Given the description of an element on the screen output the (x, y) to click on. 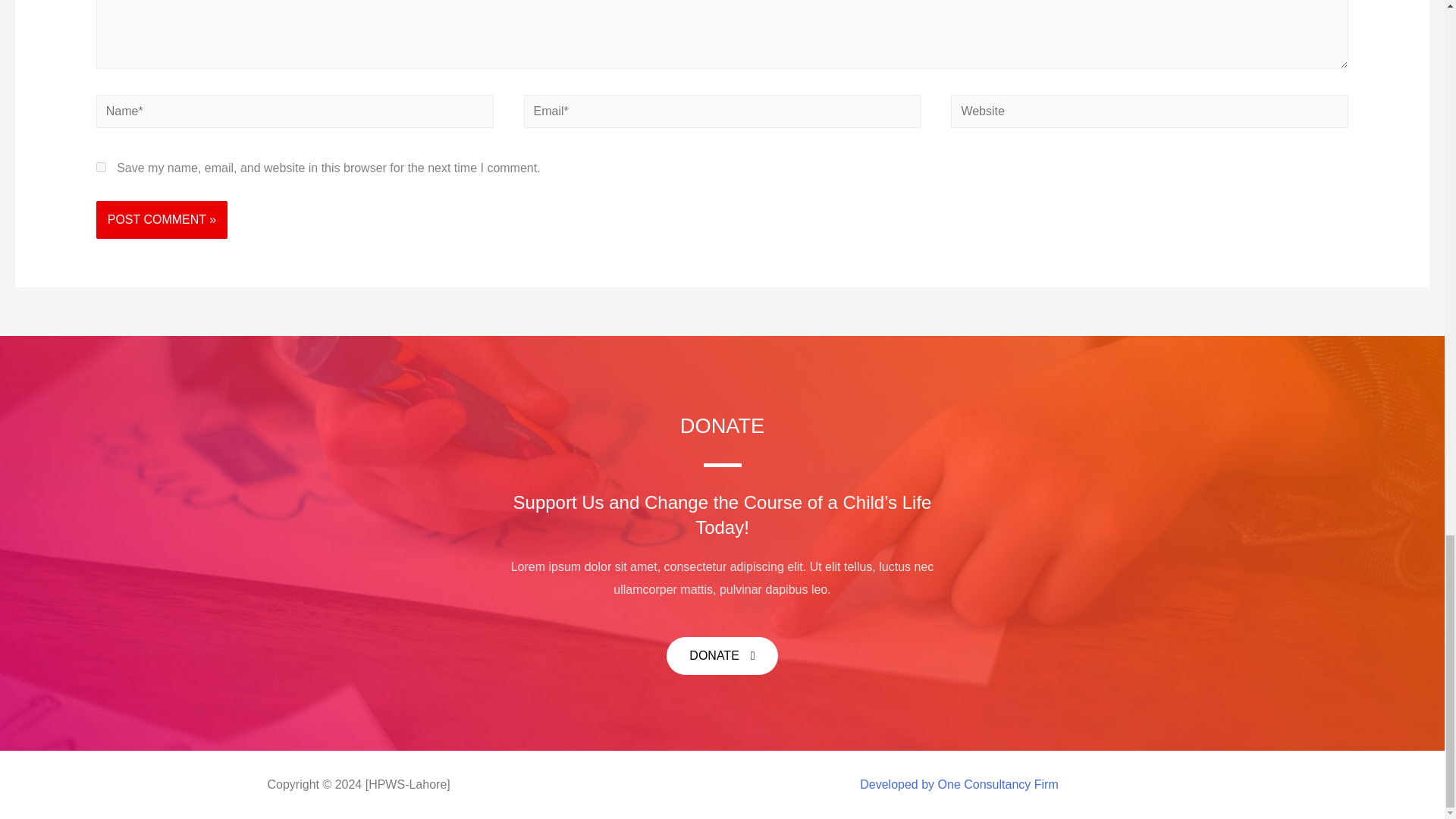
Developed by One Consultancy Firm (959, 784)
DONATE (721, 655)
yes (101, 166)
